Given the description of an element on the screen output the (x, y) to click on. 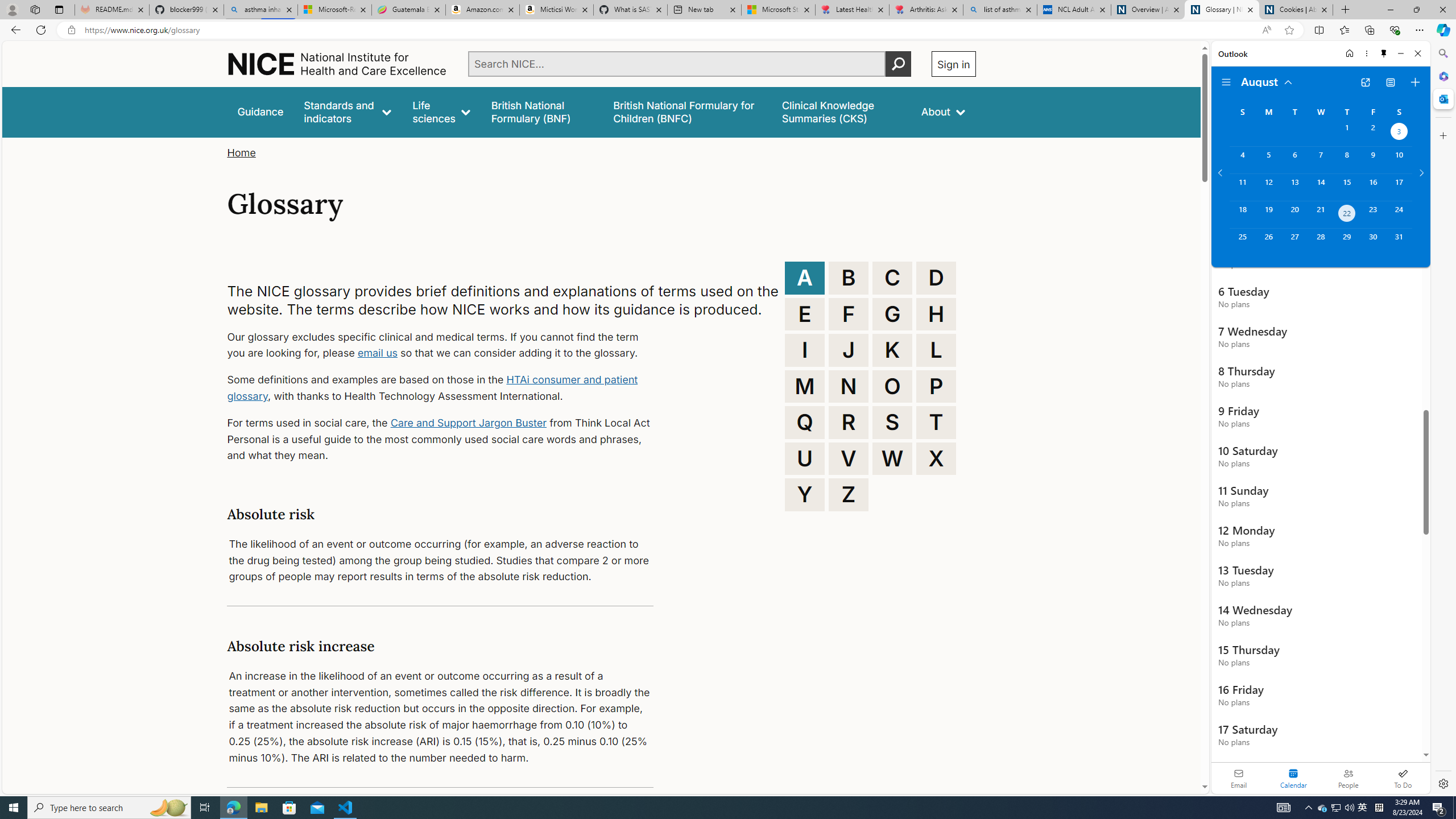
E (804, 313)
Wednesday, August 7, 2024.  (1320, 159)
M (804, 385)
Sunday, August 18, 2024.  (1242, 214)
C (892, 277)
J (848, 350)
B (848, 277)
X (935, 458)
